Given the description of an element on the screen output the (x, y) to click on. 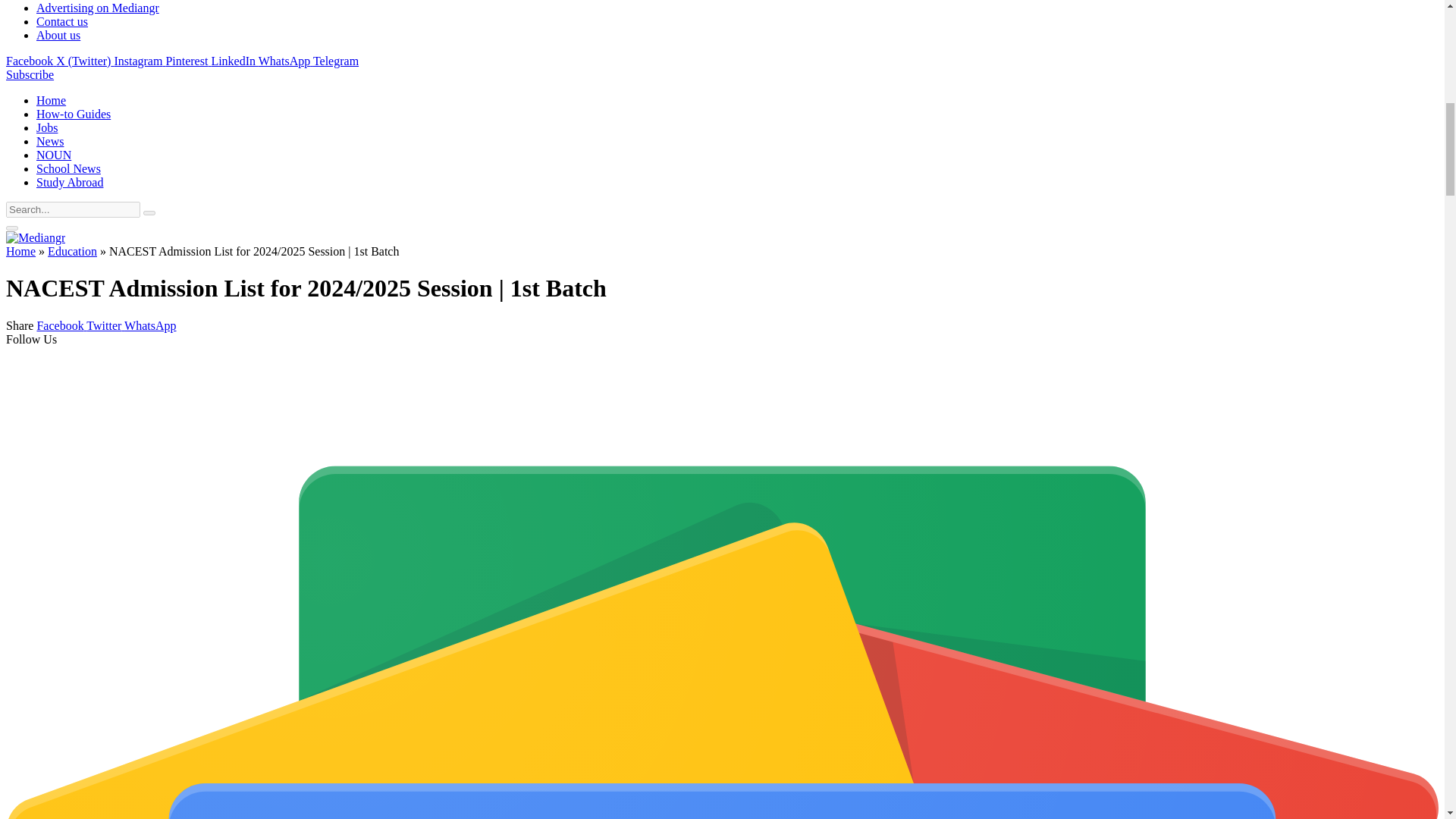
Share on Facebook (60, 325)
Mediangr (35, 237)
Hot Nigerian Jobs Today (47, 127)
Share on WhatsApp (149, 325)
